Given the description of an element on the screen output the (x, y) to click on. 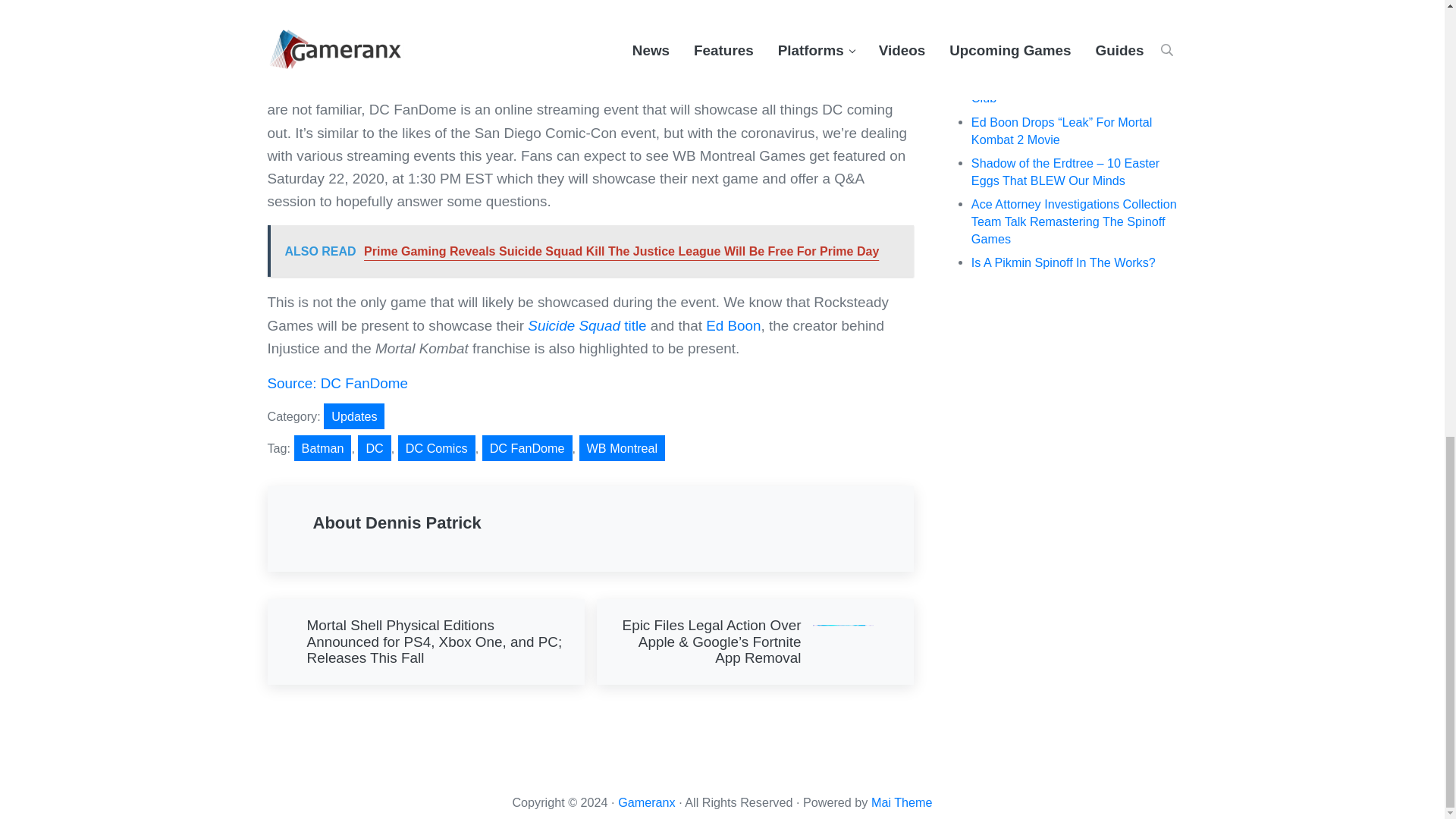
DC FanDome (526, 447)
Suicide Squad title (586, 325)
DC (374, 447)
Batman (323, 447)
WB Montreal (622, 447)
Ed Boon (733, 325)
Source: DC FanDome  (339, 383)
DC Comics (436, 447)
Updates (353, 416)
